Given the description of an element on the screen output the (x, y) to click on. 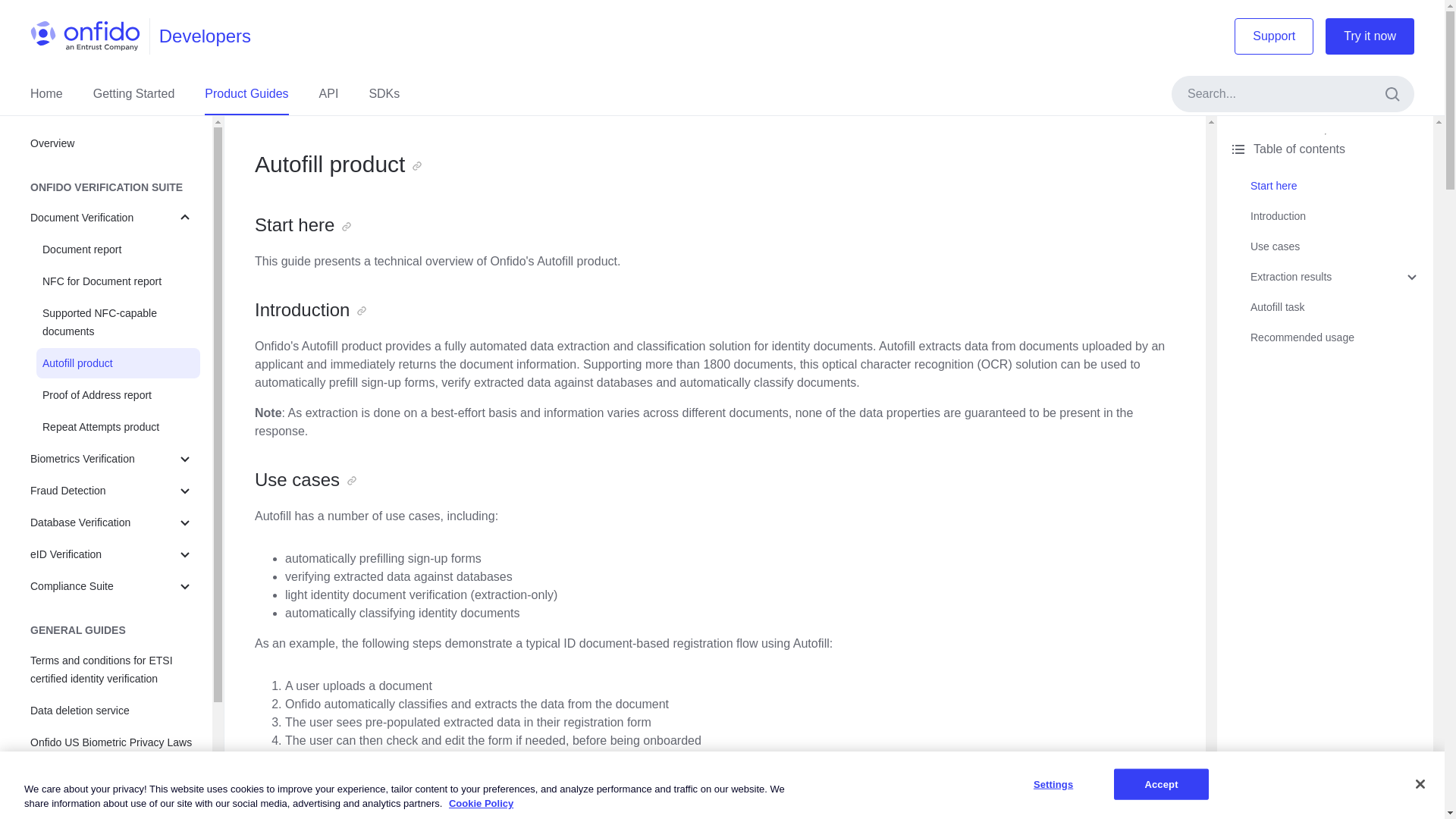
Autofill product (118, 363)
Fraud Detection (112, 490)
NFC for Document report (118, 281)
Biometrics Verification (112, 458)
Proof of Address report (118, 395)
Getting Started (133, 93)
Compliance Suite (112, 585)
Repeat Attempts product (118, 426)
Overview (112, 142)
